Given the description of an element on the screen output the (x, y) to click on. 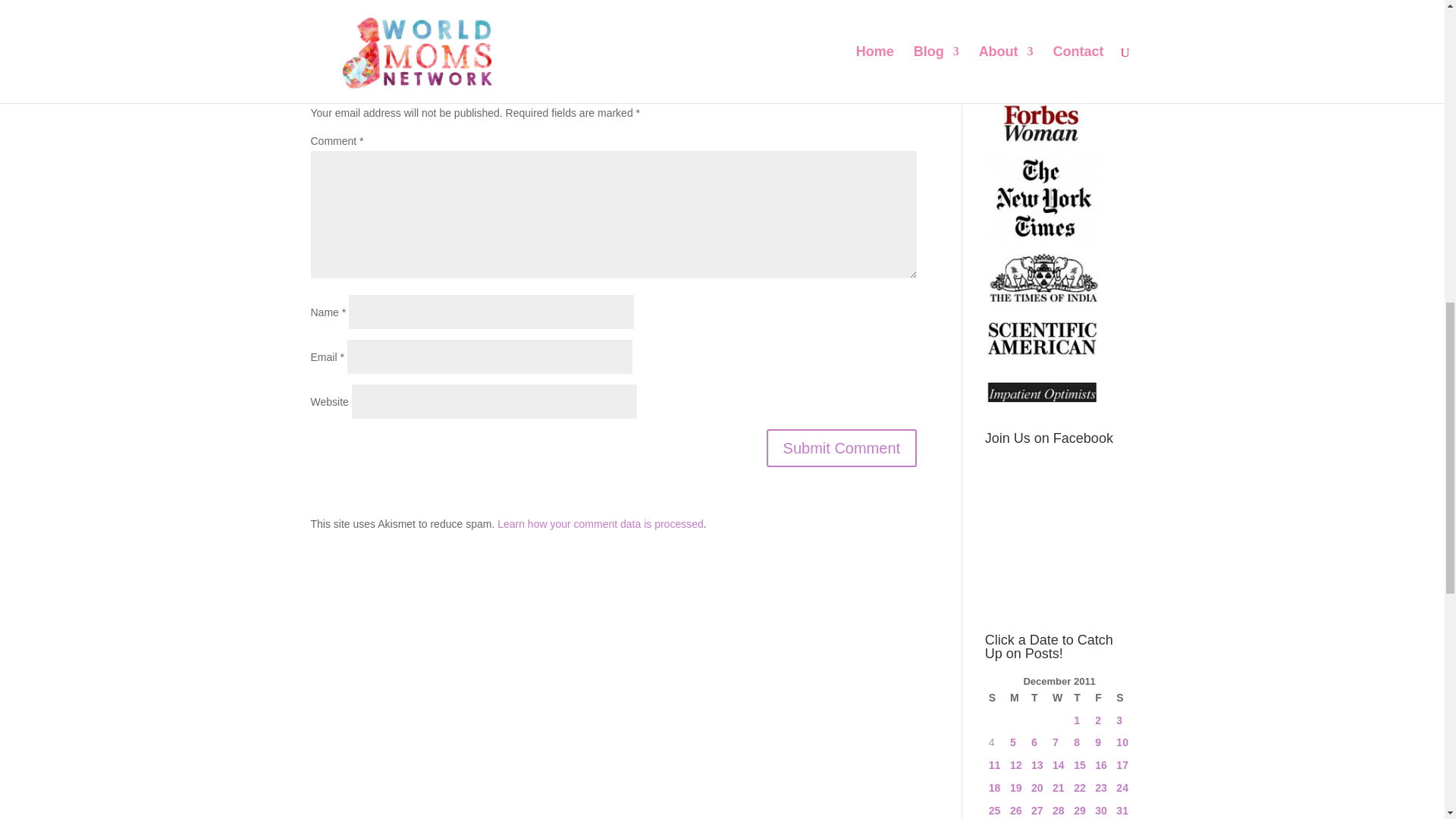
Tuesday (1037, 698)
Thursday (1080, 698)
Friday (1101, 698)
Monday (1016, 698)
Sunday (995, 698)
Saturday (1123, 698)
Submit Comment (842, 447)
Wednesday (1059, 698)
Learn how your comment data is processed (600, 523)
Submit Comment (842, 447)
